Given the description of an element on the screen output the (x, y) to click on. 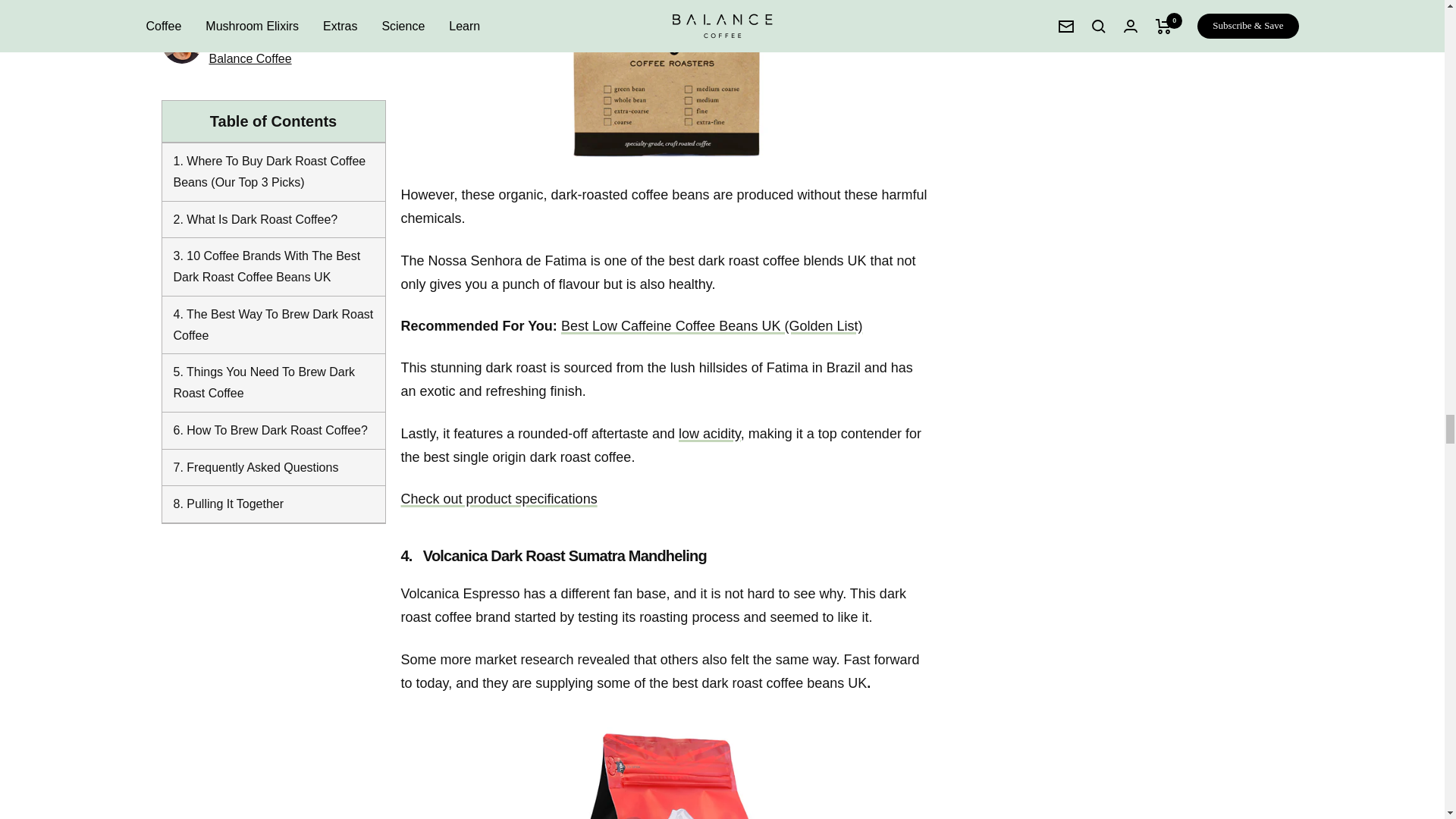
Low Caffeine Coffee Beans (711, 325)
